Given the description of an element on the screen output the (x, y) to click on. 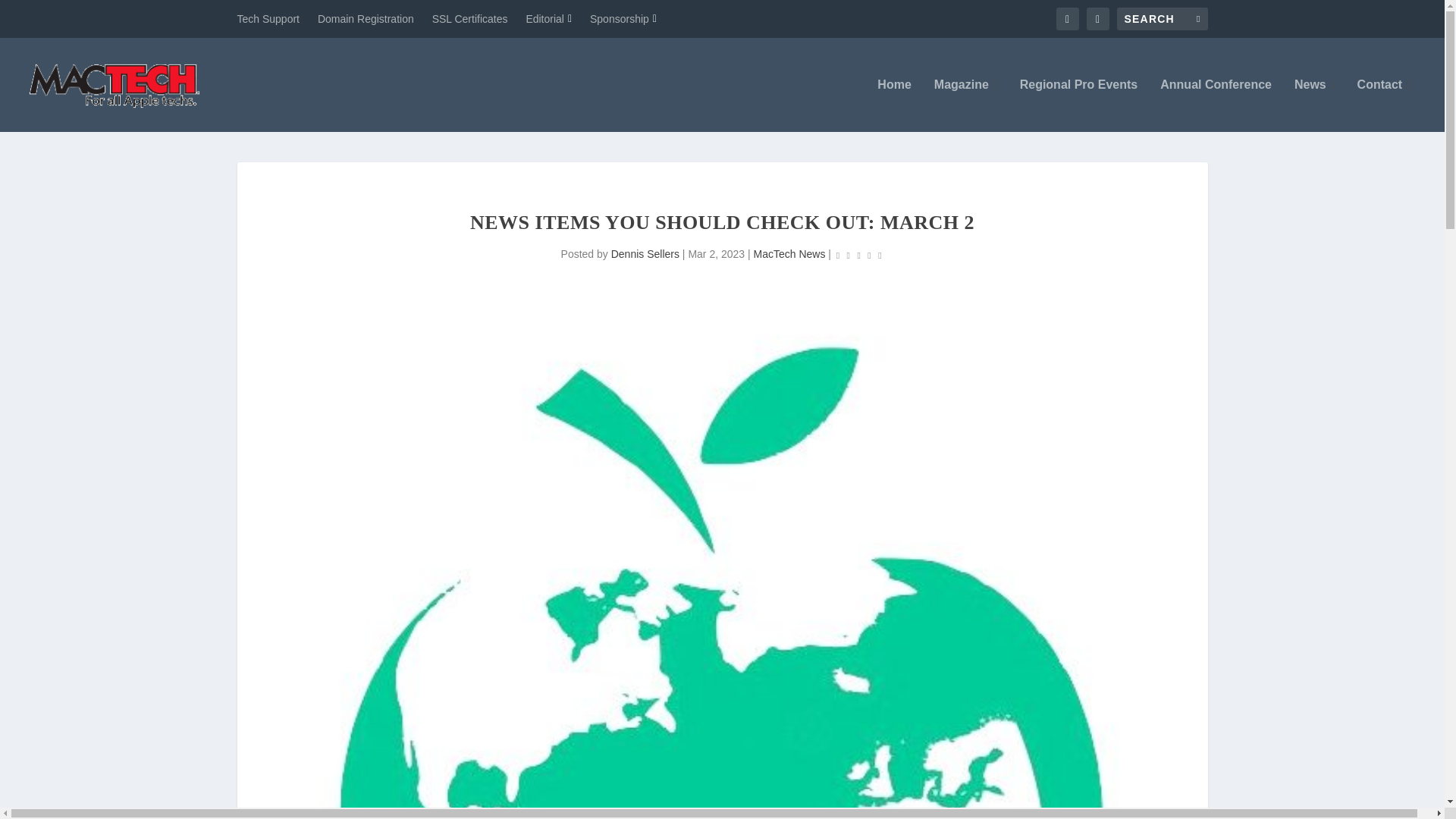
Annual Conference (1215, 104)
Search for: (1161, 18)
Regional Pro Events (1079, 104)
Magazine (965, 104)
Domain Registration (365, 18)
Sponsorship (622, 18)
Editorial (548, 18)
SSL Certificates (470, 18)
Tech Support (267, 18)
Contact (1383, 104)
Rating: 0.00 (858, 254)
Posts by Dennis Sellers (645, 254)
